Given the description of an element on the screen output the (x, y) to click on. 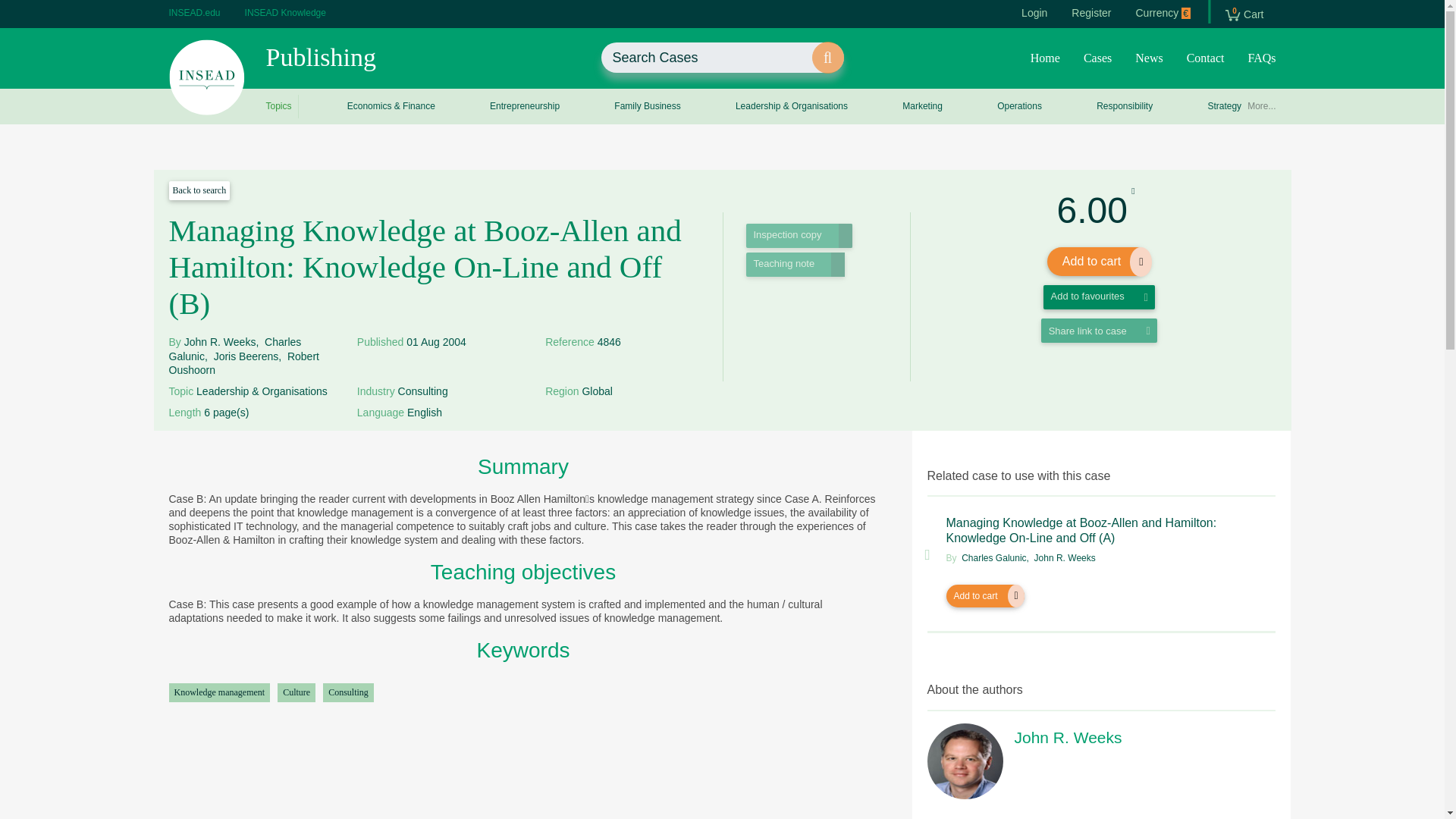
Login (1243, 14)
INSEAD Knowledge (1034, 12)
Register (284, 12)
Responsibility (1090, 12)
INSEAD.edu (1124, 106)
Family Business (199, 12)
FAQs (646, 106)
Cases (1258, 58)
Operations (1097, 58)
Skip to main content (1019, 106)
Access is not permitted with your account. (1205, 58)
Marketing (795, 264)
Home (922, 106)
